Given the description of an element on the screen output the (x, y) to click on. 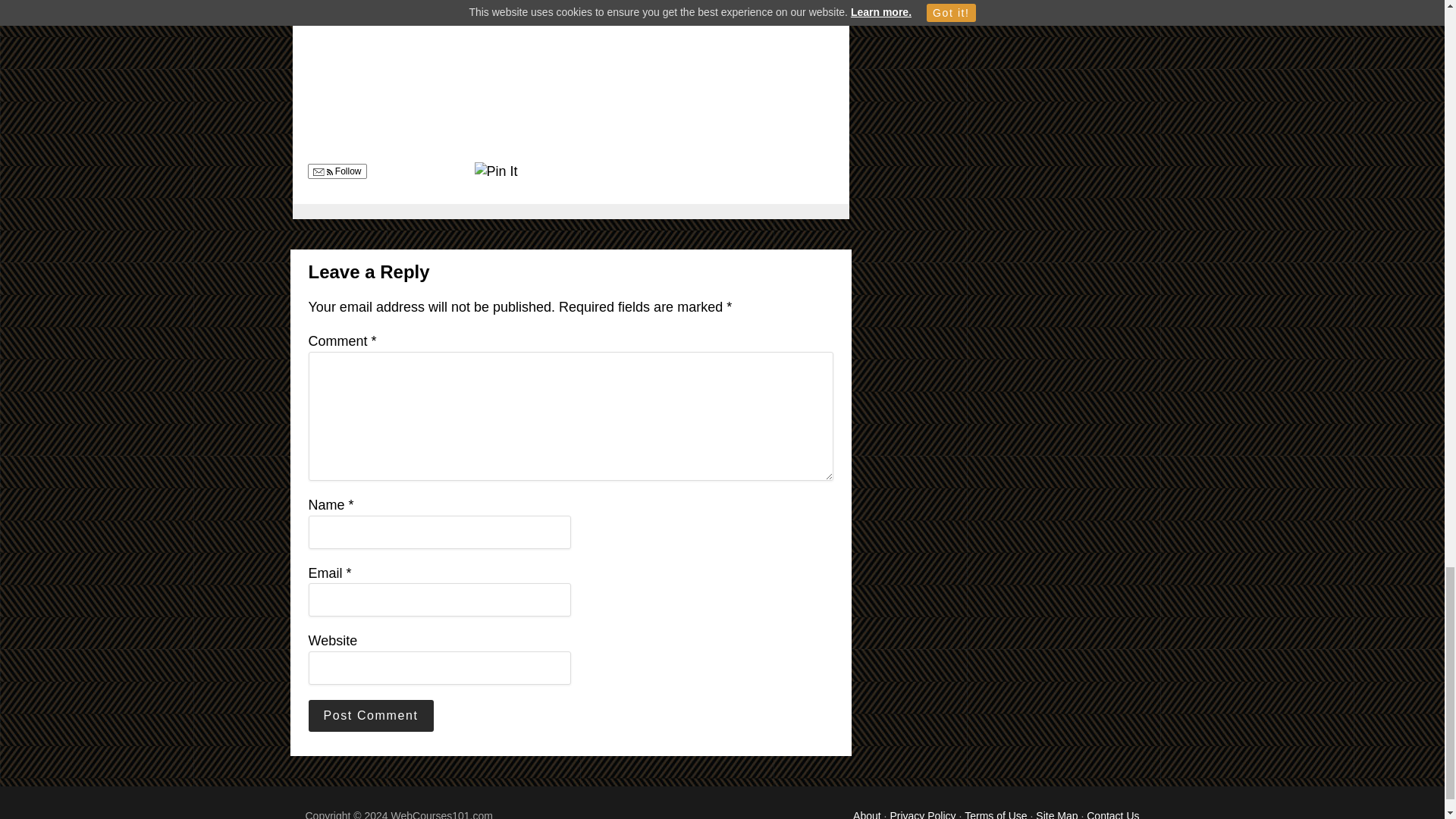
Follow (336, 171)
Post Comment (369, 716)
Email, RSS (322, 173)
Post Comment (369, 716)
